Given the description of an element on the screen output the (x, y) to click on. 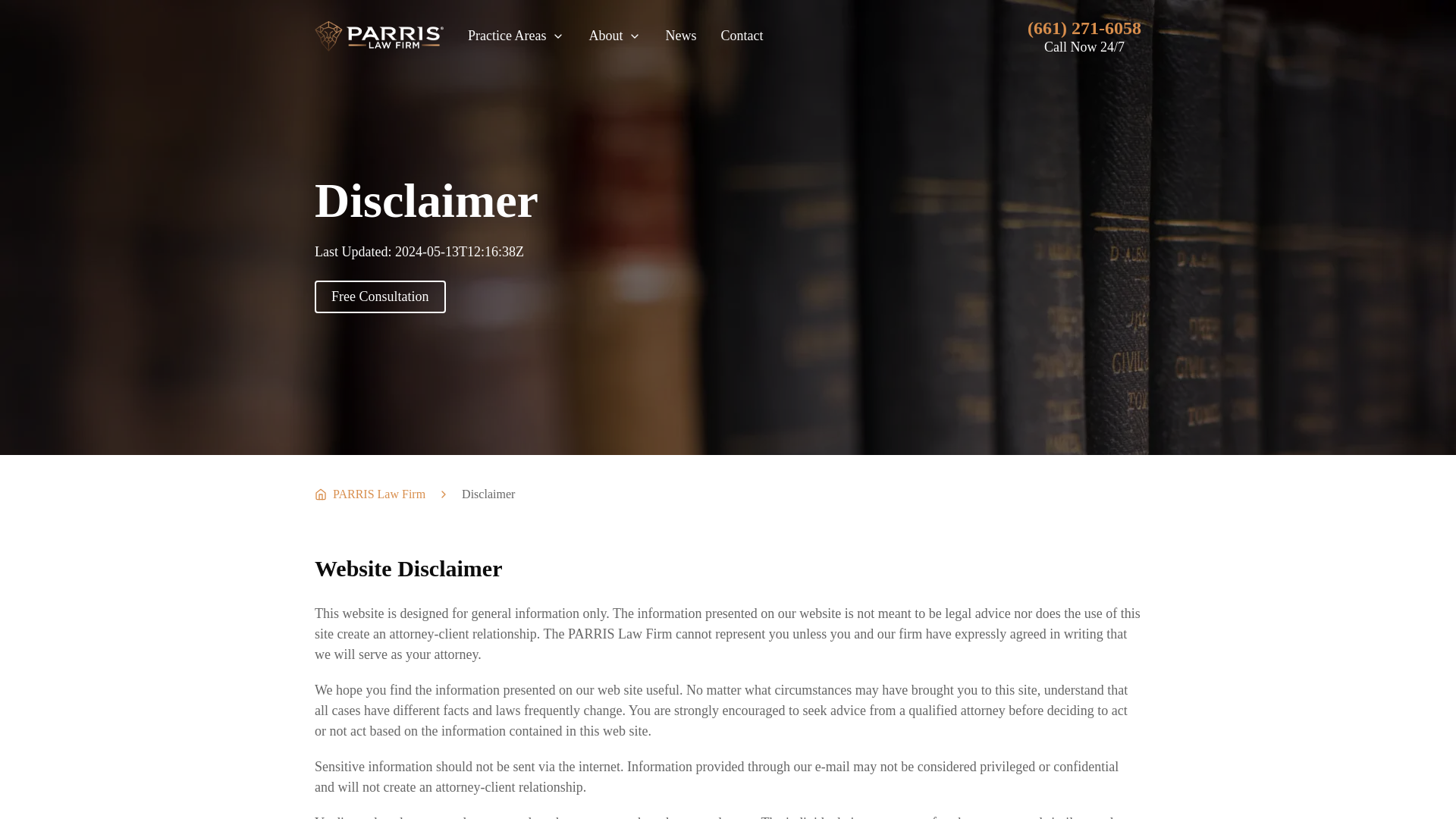
Practice Areas (515, 35)
Disclaimer (488, 494)
News (680, 35)
Contact (741, 35)
About (614, 35)
PARRIS Law Firm (369, 494)
Free Consultation (379, 296)
